Given the description of an element on the screen output the (x, y) to click on. 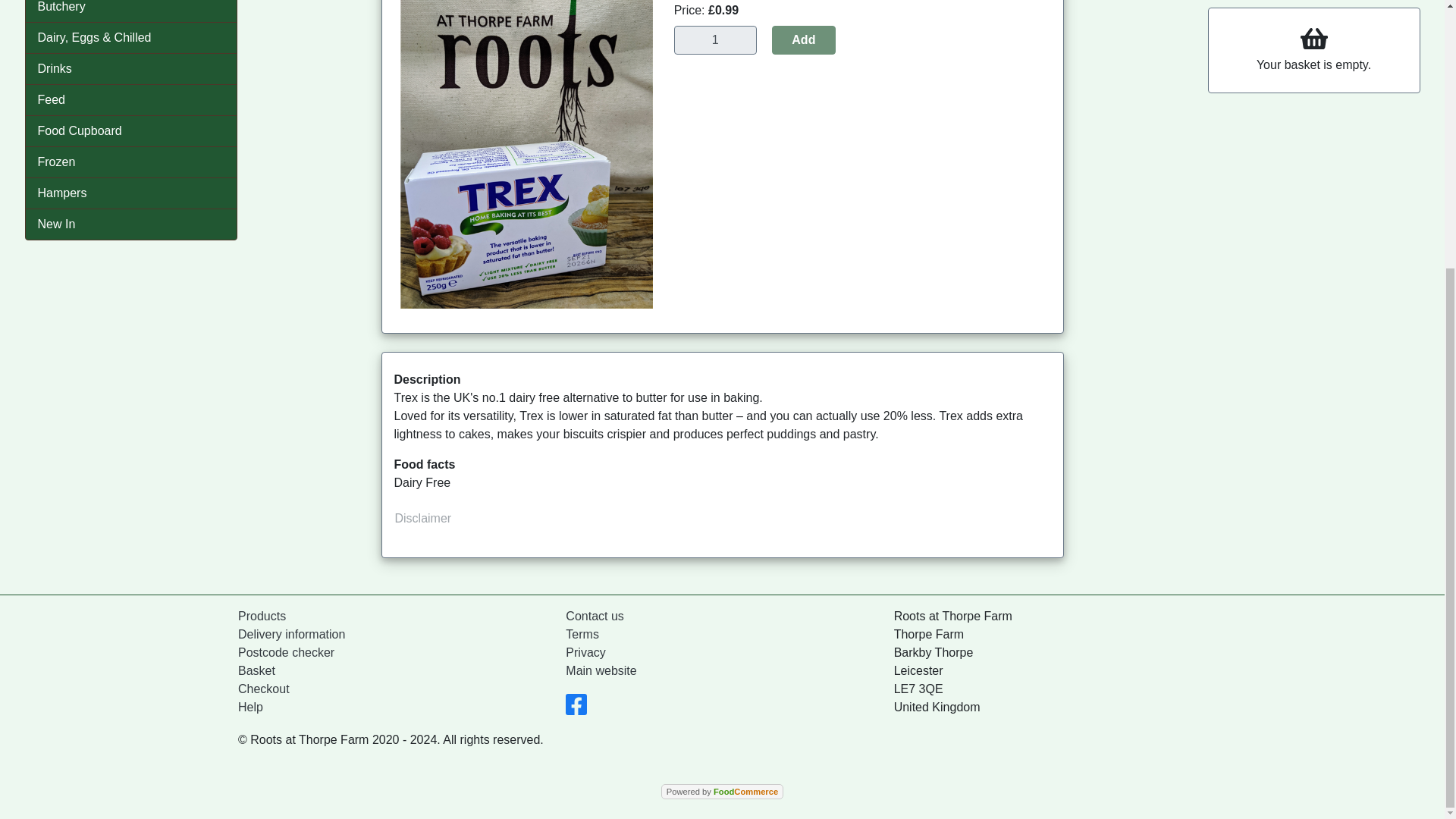
1 (715, 39)
Visit our Facebook page. (576, 708)
